Given the description of an element on the screen output the (x, y) to click on. 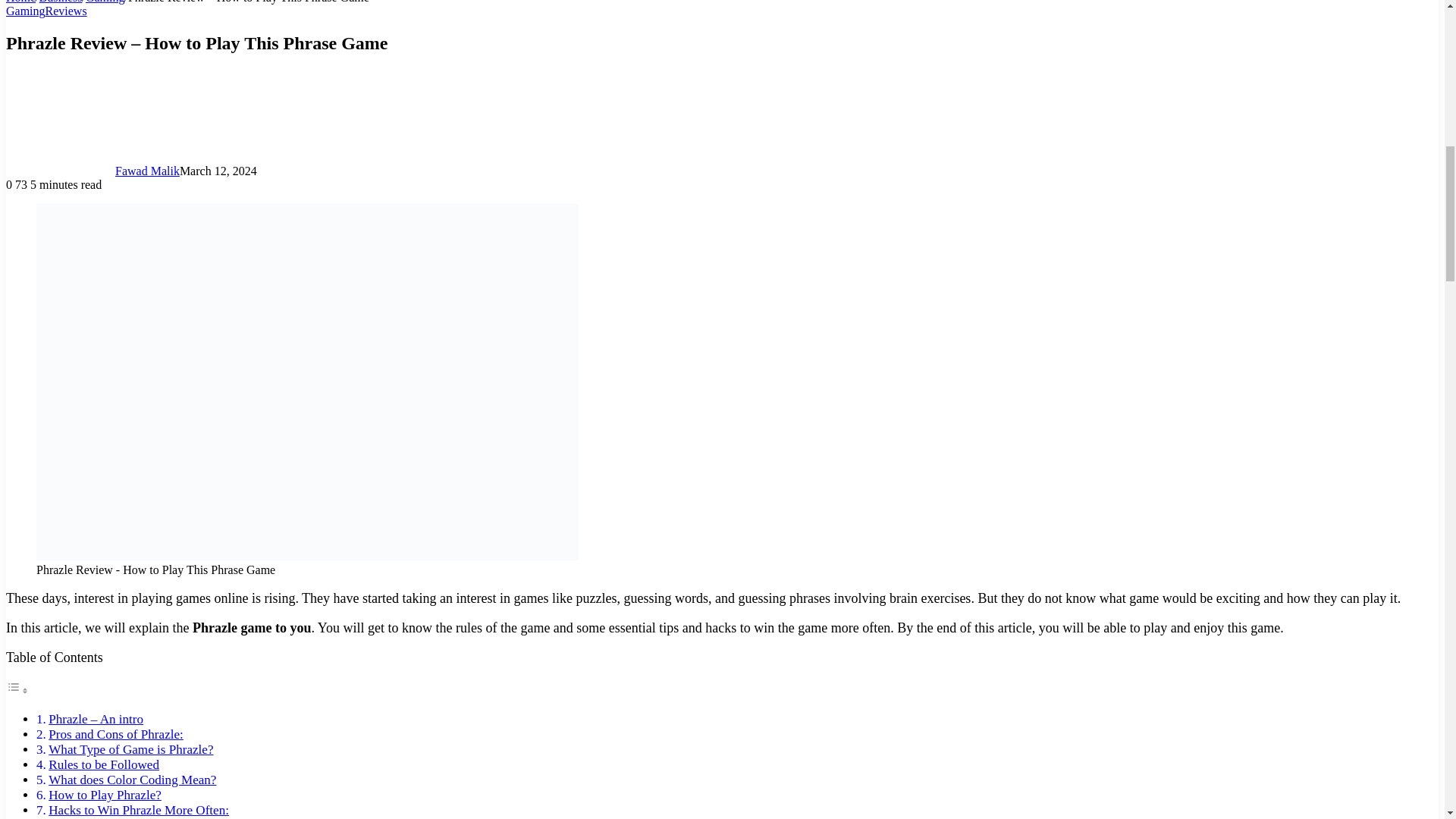
What Type of Game is Phrazle? (130, 749)
Hacks to Win Phrazle More Often: (138, 810)
Rules to be Followed (103, 764)
Fawad Malik (147, 170)
What does Color Coding Mean? (131, 780)
Conclusion (77, 818)
How to Play Phrazle? (104, 794)
Pros and Cons of Phrazle: (115, 734)
